Given the description of an element on the screen output the (x, y) to click on. 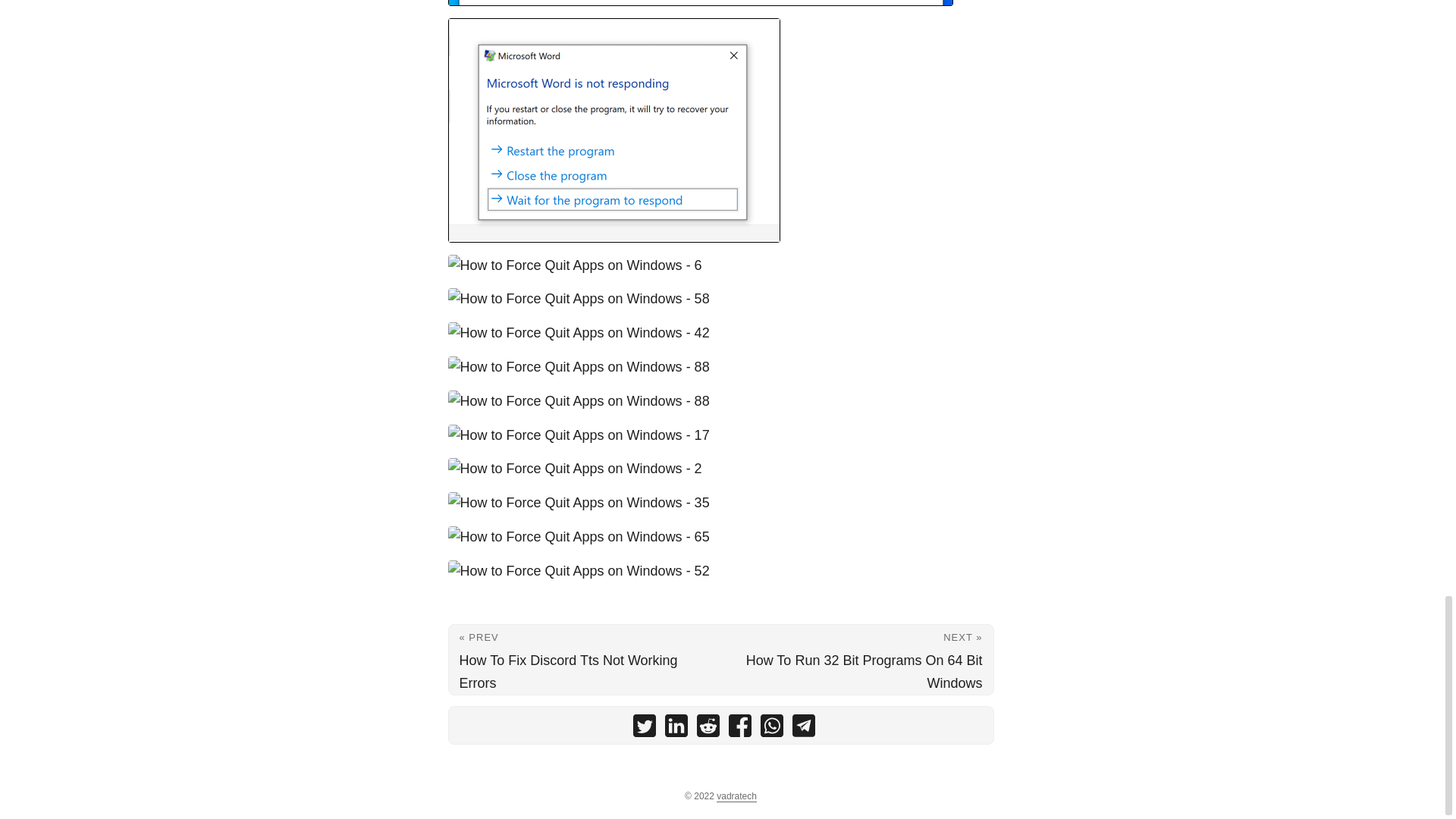
vadratech (736, 796)
